Given the description of an element on the screen output the (x, y) to click on. 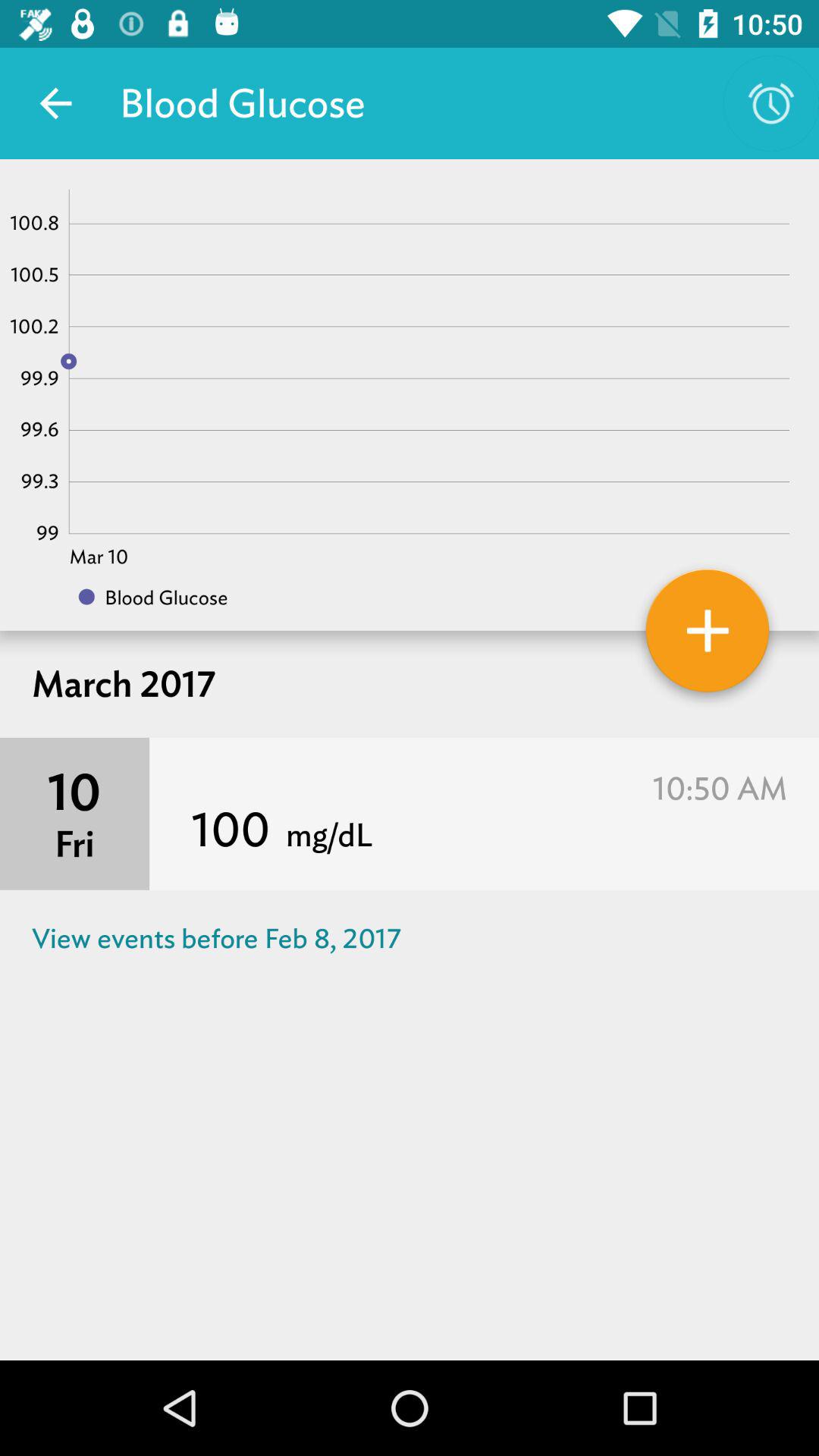
go back (55, 103)
